Given the description of an element on the screen output the (x, y) to click on. 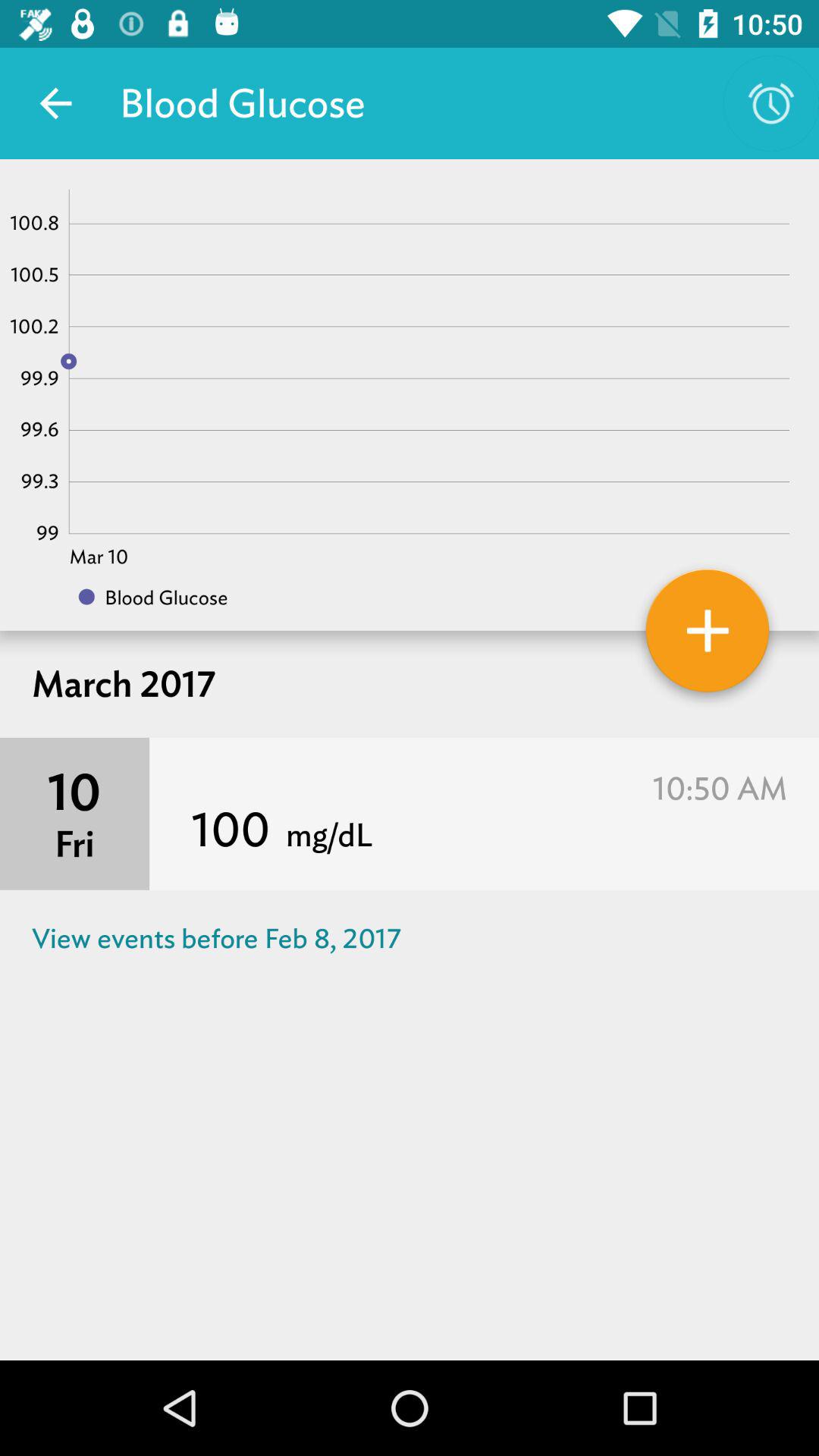
go back (55, 103)
